Given the description of an element on the screen output the (x, y) to click on. 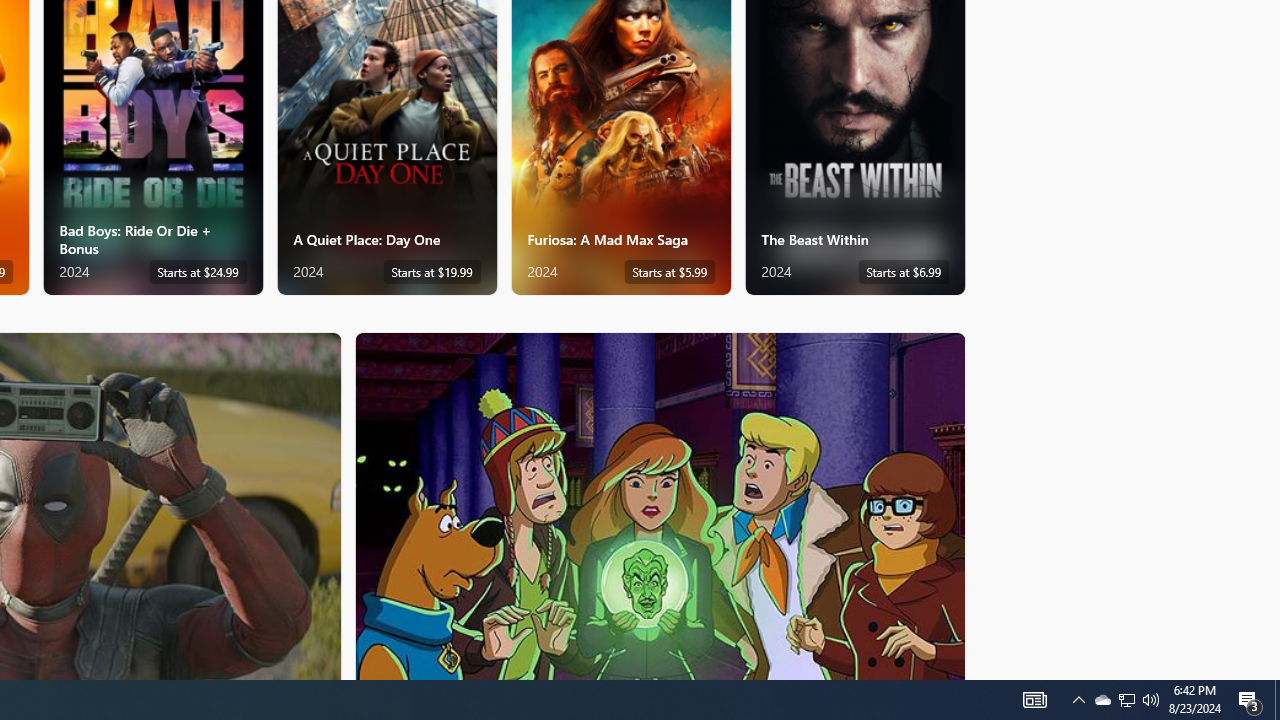
AutomationID: PosterImage (658, 505)
Family (660, 505)
